Given the description of an element on the screen output the (x, y) to click on. 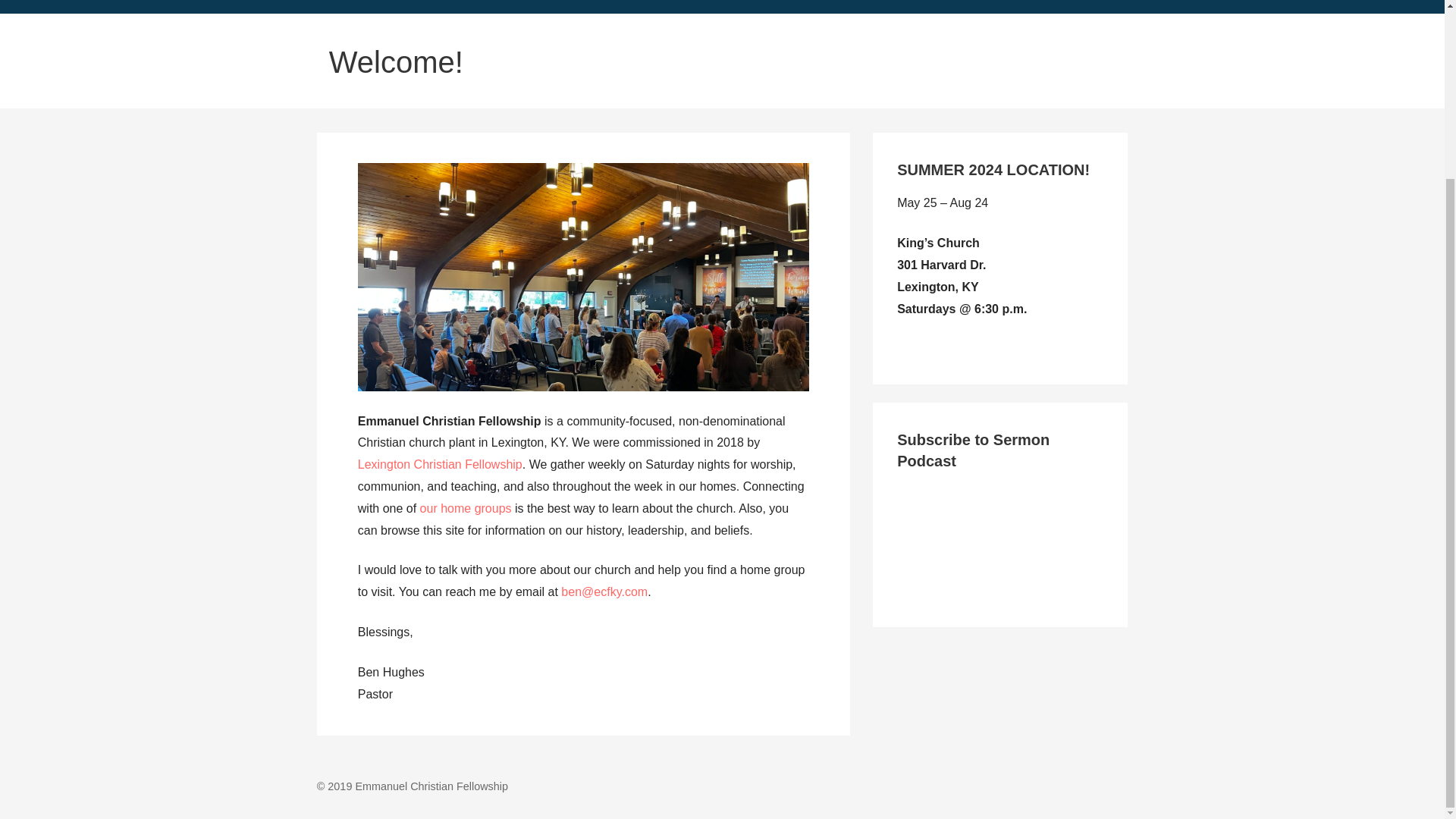
About (566, 6)
Connect (711, 6)
Resources (635, 6)
Sermons (340, 6)
Home Fellowship Groups (458, 6)
our home groups (466, 508)
Lexington Christian Fellowship (440, 463)
